Given the description of an element on the screen output the (x, y) to click on. 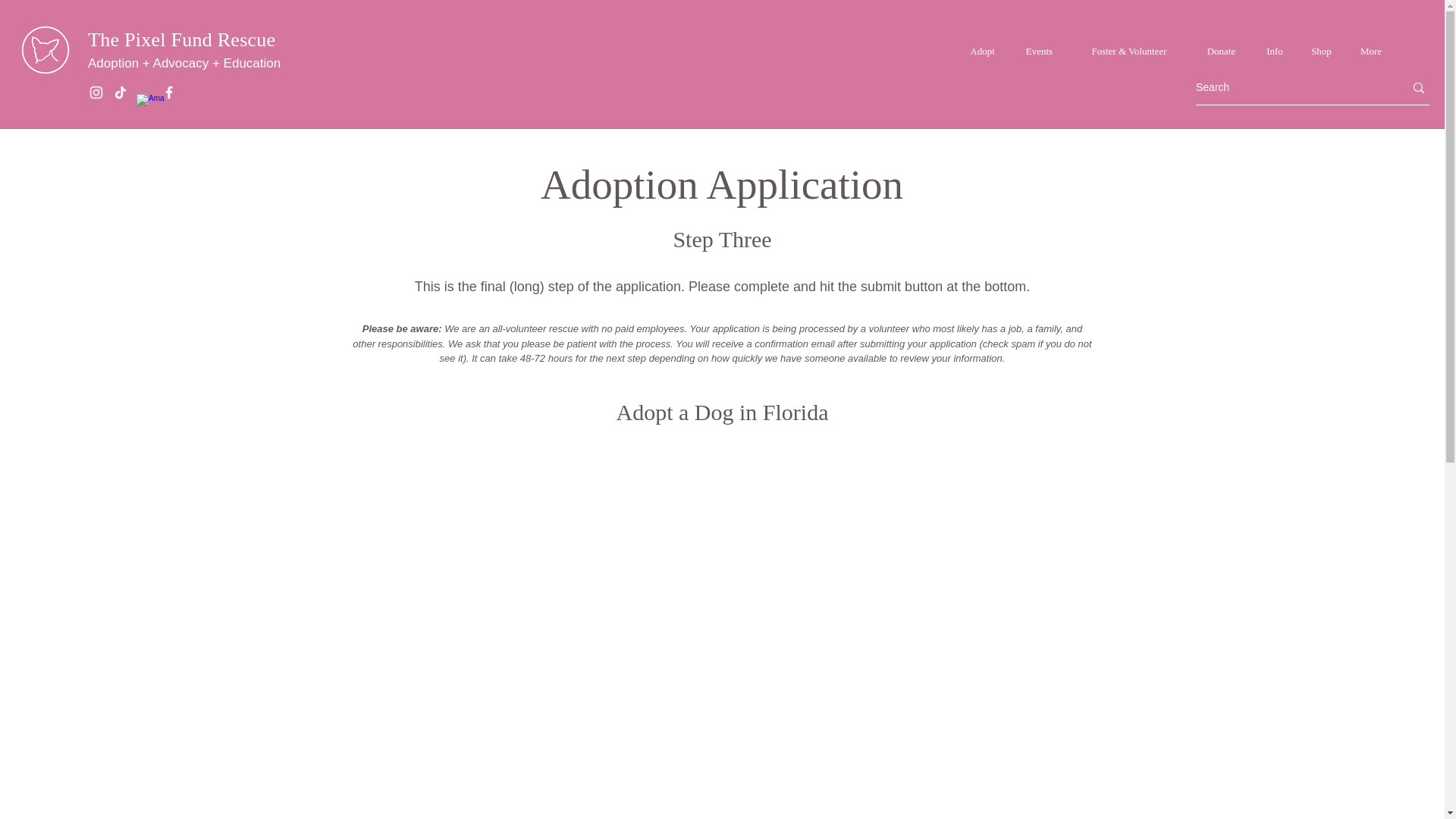
Donate (1220, 51)
Shop (1321, 51)
The Pixel Fund Rescue (181, 39)
Events (1039, 51)
Adopt (982, 51)
